Given the description of an element on the screen output the (x, y) to click on. 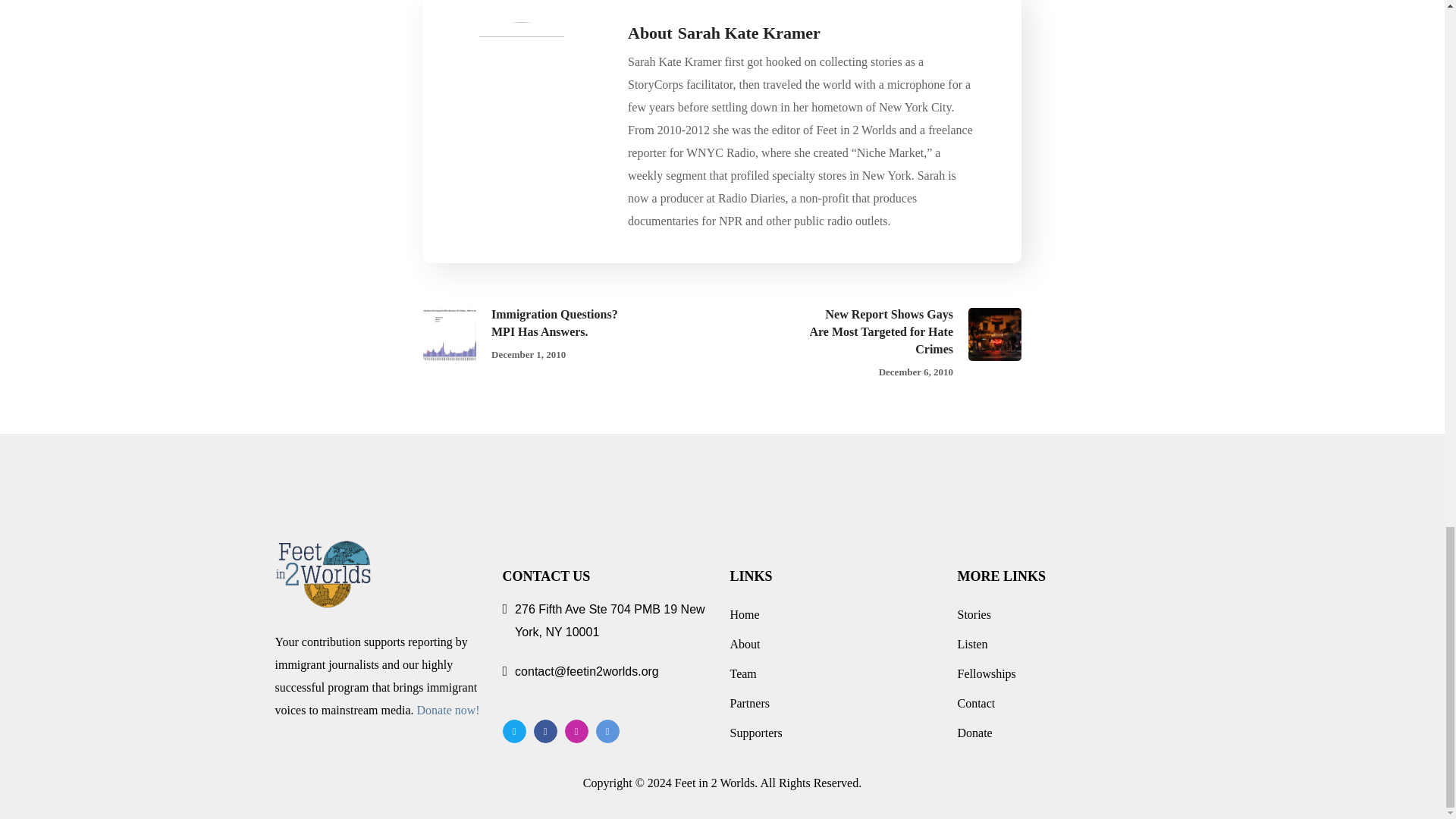
Instagram (576, 730)
LinkedIn (607, 730)
Facebook (545, 730)
Twitter (513, 730)
New Report Shows Gays Are Most Targeted for Hate Crimes   (896, 343)
Immigration Questions? MPI Has Answers. (547, 335)
